Given the description of an element on the screen output the (x, y) to click on. 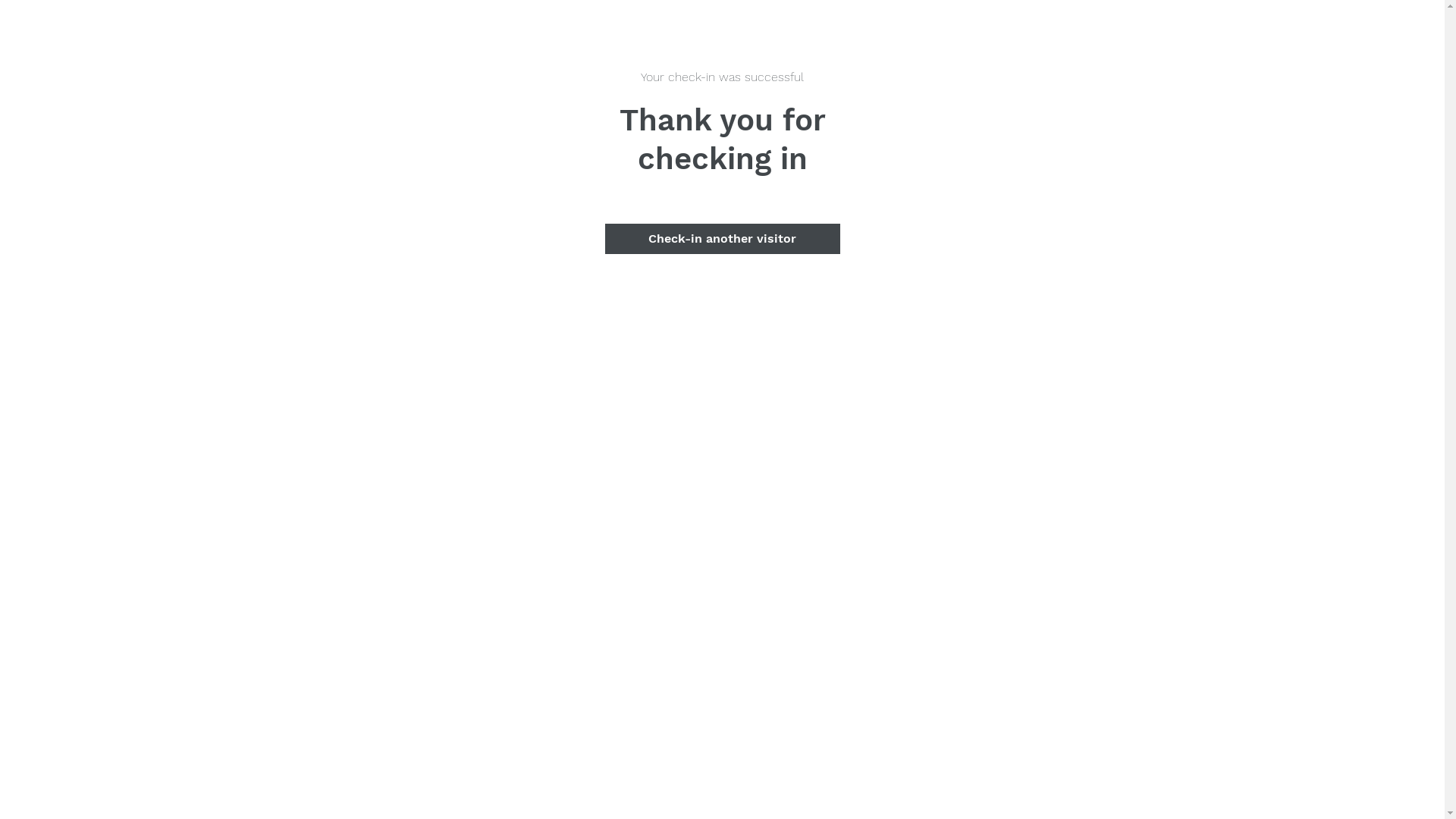
Check-in another visitor Element type: text (722, 238)
